Given the description of an element on the screen output the (x, y) to click on. 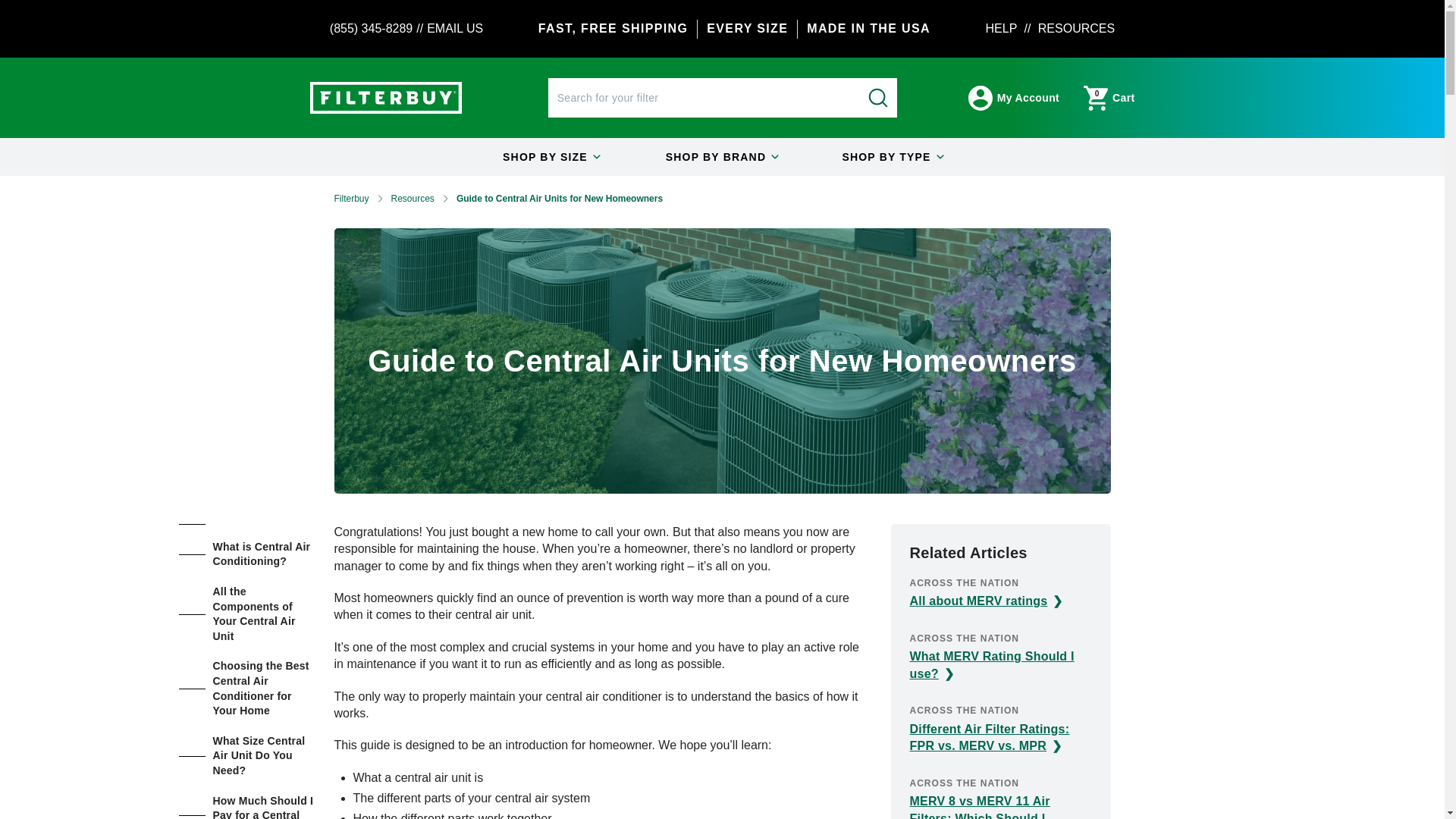
View your shopping cart (1108, 97)
HELP (1108, 97)
My Account (1002, 28)
SHOP BY SIZE (1013, 97)
RESOURCES (454, 28)
